Given the description of an element on the screen output the (x, y) to click on. 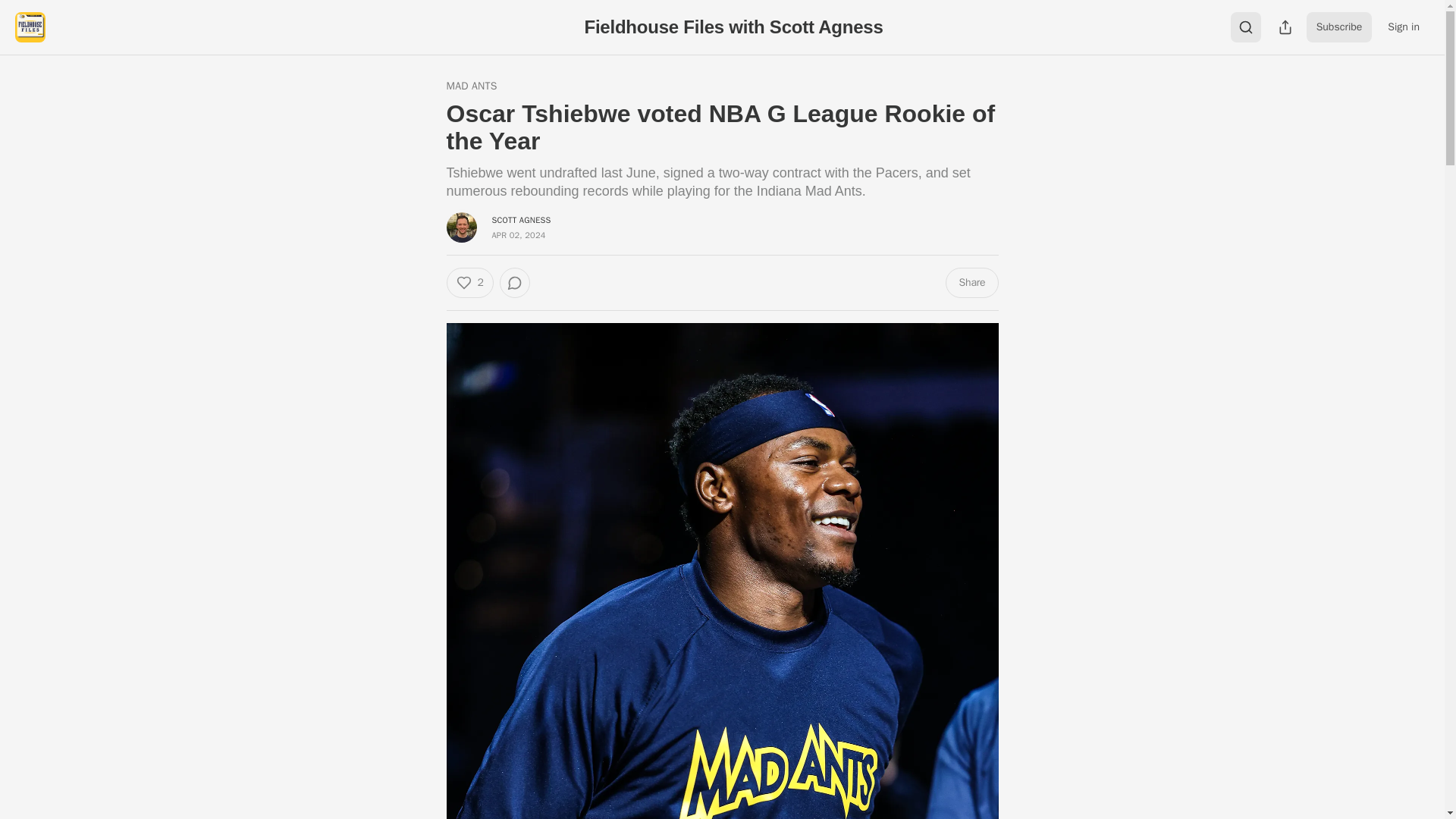
Sign in (1403, 27)
Subscribe (1339, 27)
SCOTT AGNESS (521, 219)
Fieldhouse Files with Scott Agness (732, 26)
Share (970, 282)
2 (469, 282)
MAD ANTS (470, 86)
